Given the description of an element on the screen output the (x, y) to click on. 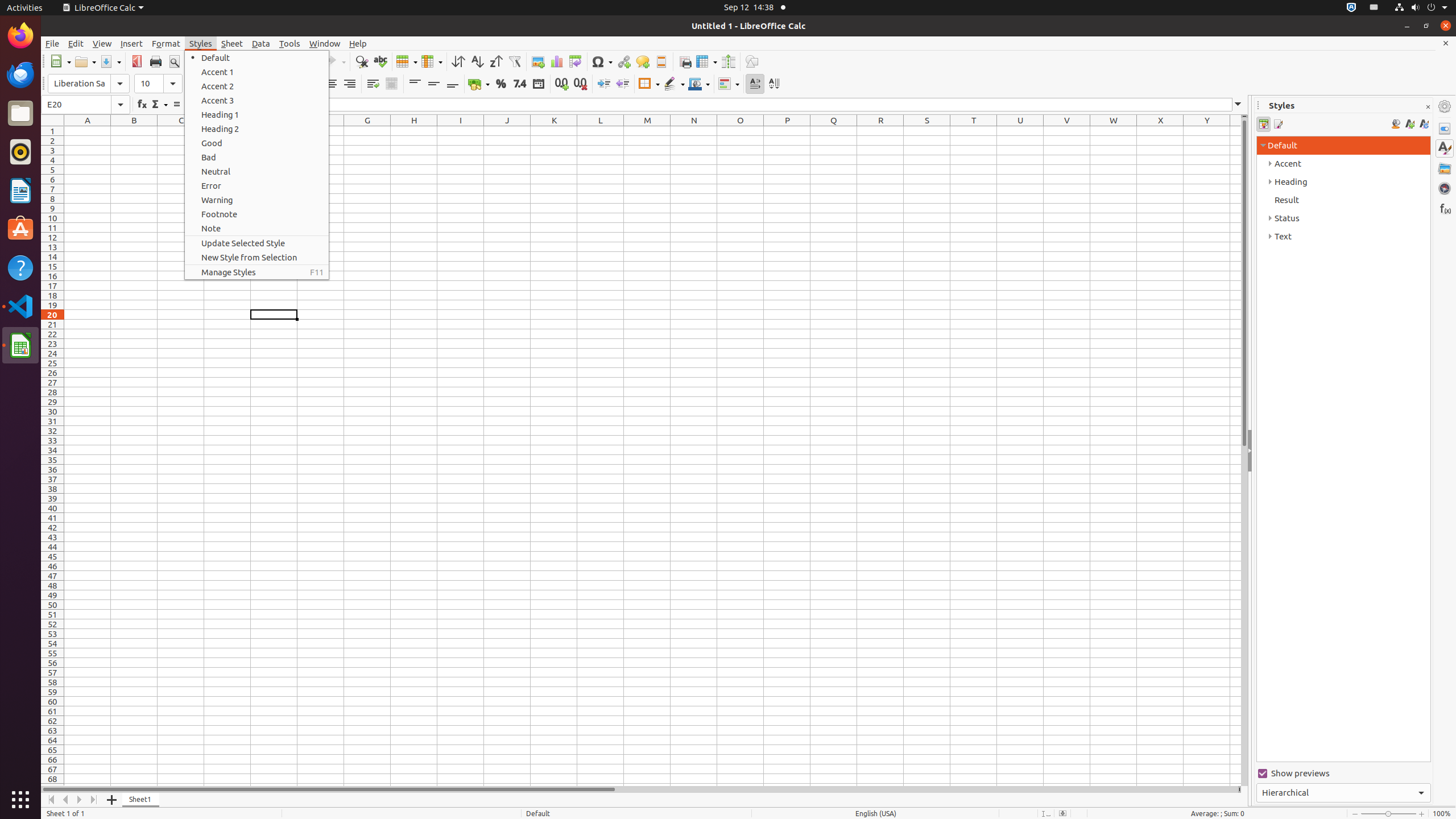
Page Styles Element type: push-button (1277, 123)
Conditional Element type: push-button (728, 83)
Styles Element type: menu (200, 43)
Sheet1 Element type: page-tab (140, 799)
Align Bottom Element type: push-button (452, 83)
